Given the description of an element on the screen output the (x, y) to click on. 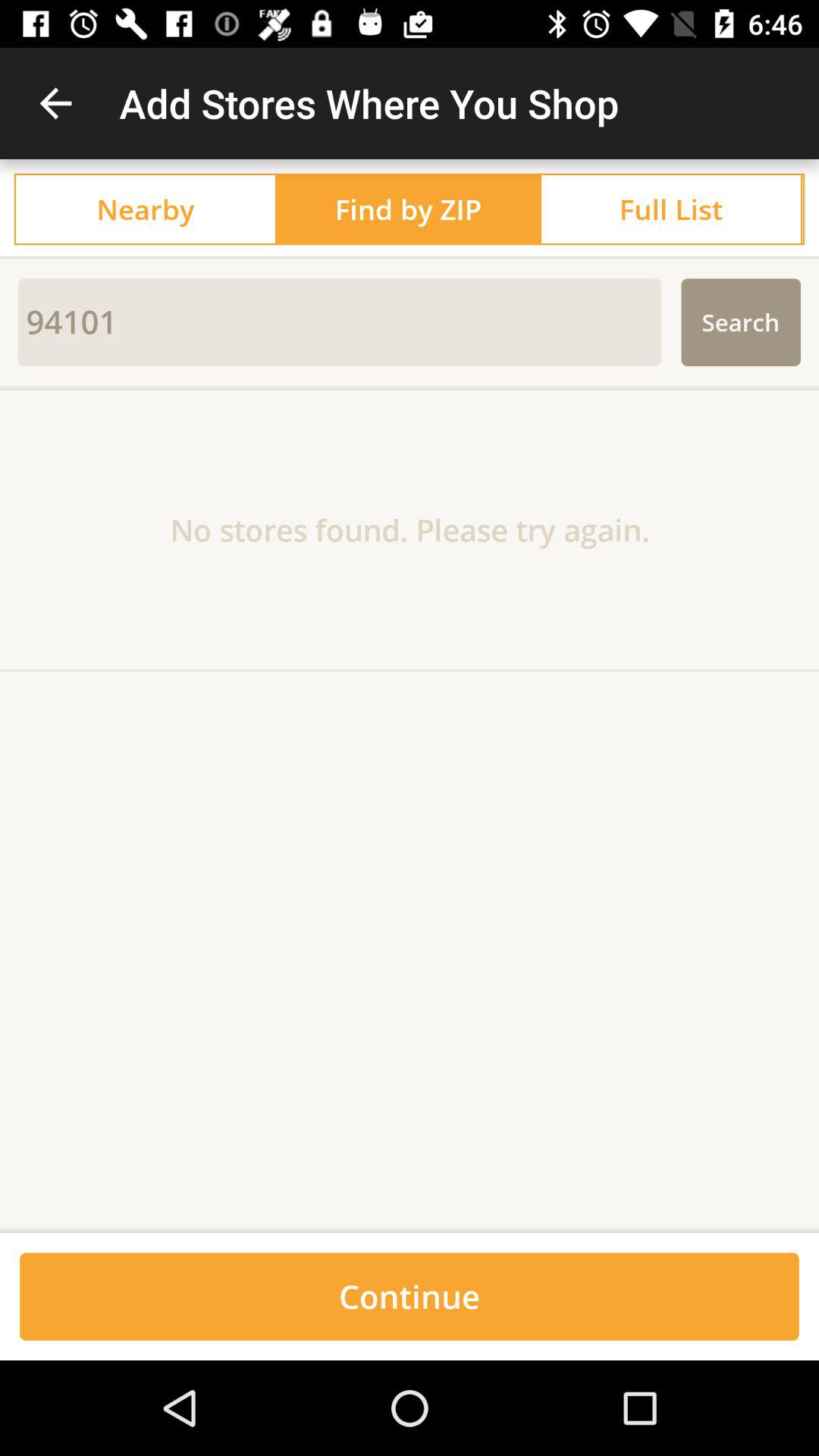
scroll to the search icon (740, 321)
